Given the description of an element on the screen output the (x, y) to click on. 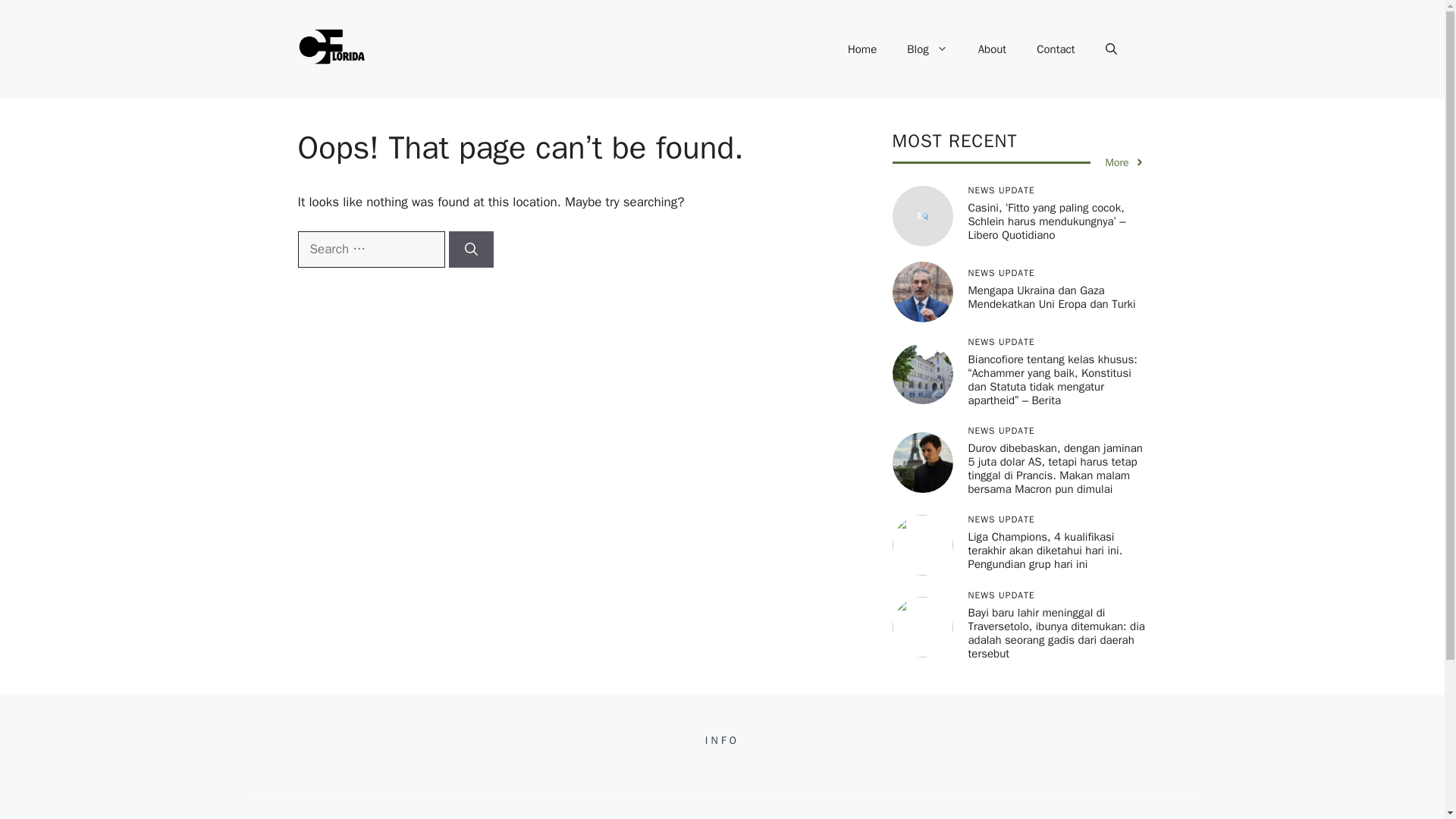
Search for: (370, 248)
About (992, 49)
Contact (1055, 49)
Blog (926, 49)
Mengapa Ukraina dan Gaza Mendekatkan Uni Eropa dan Turki (1051, 297)
Home (861, 49)
More (1124, 162)
